Given the description of an element on the screen output the (x, y) to click on. 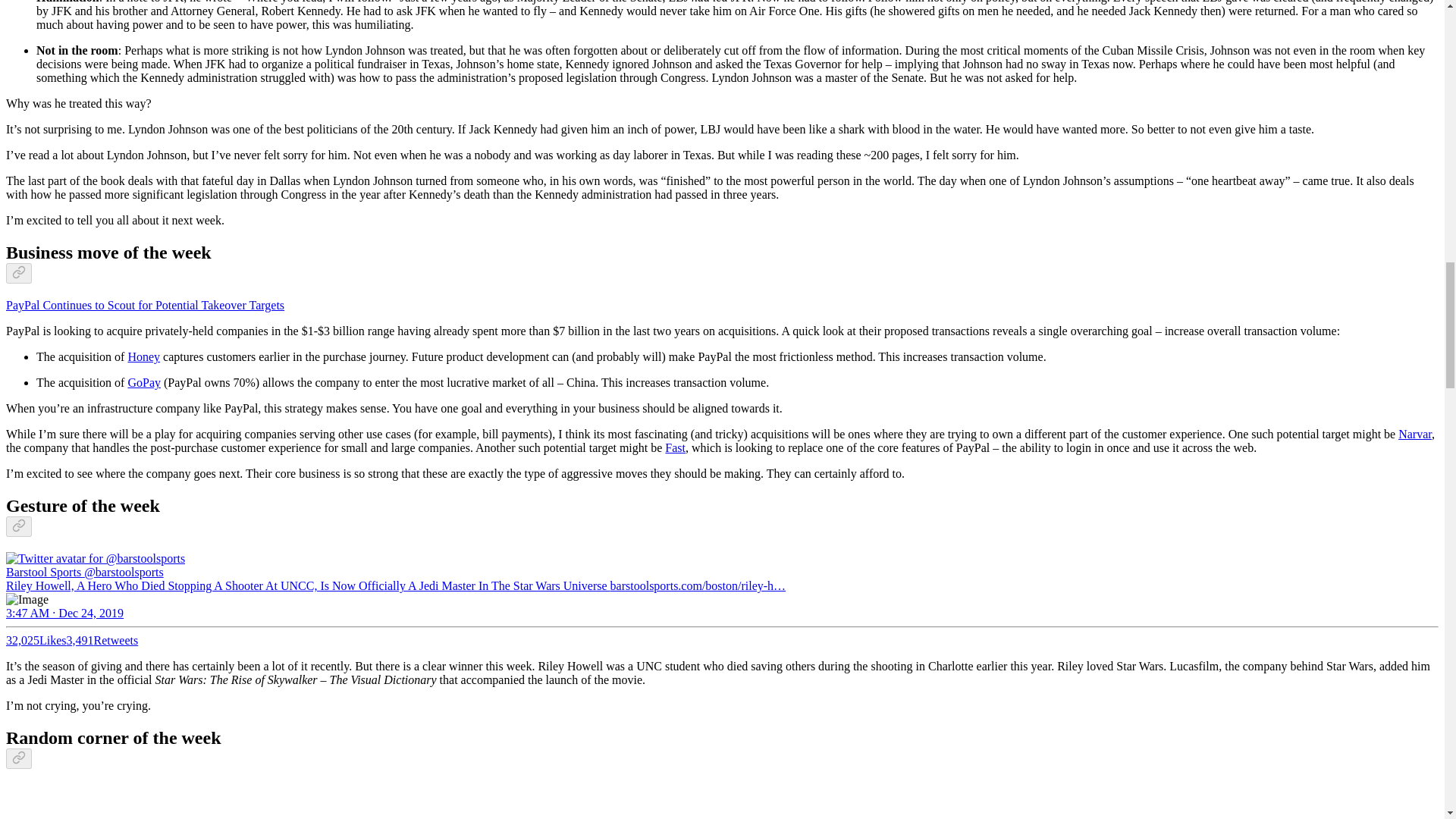
Honey (144, 356)
Fast (675, 447)
GoPay (144, 382)
PayPal Continues to Scout for Potential Takeover Targets (144, 305)
Narvar (1414, 433)
